Given the description of an element on the screen output the (x, y) to click on. 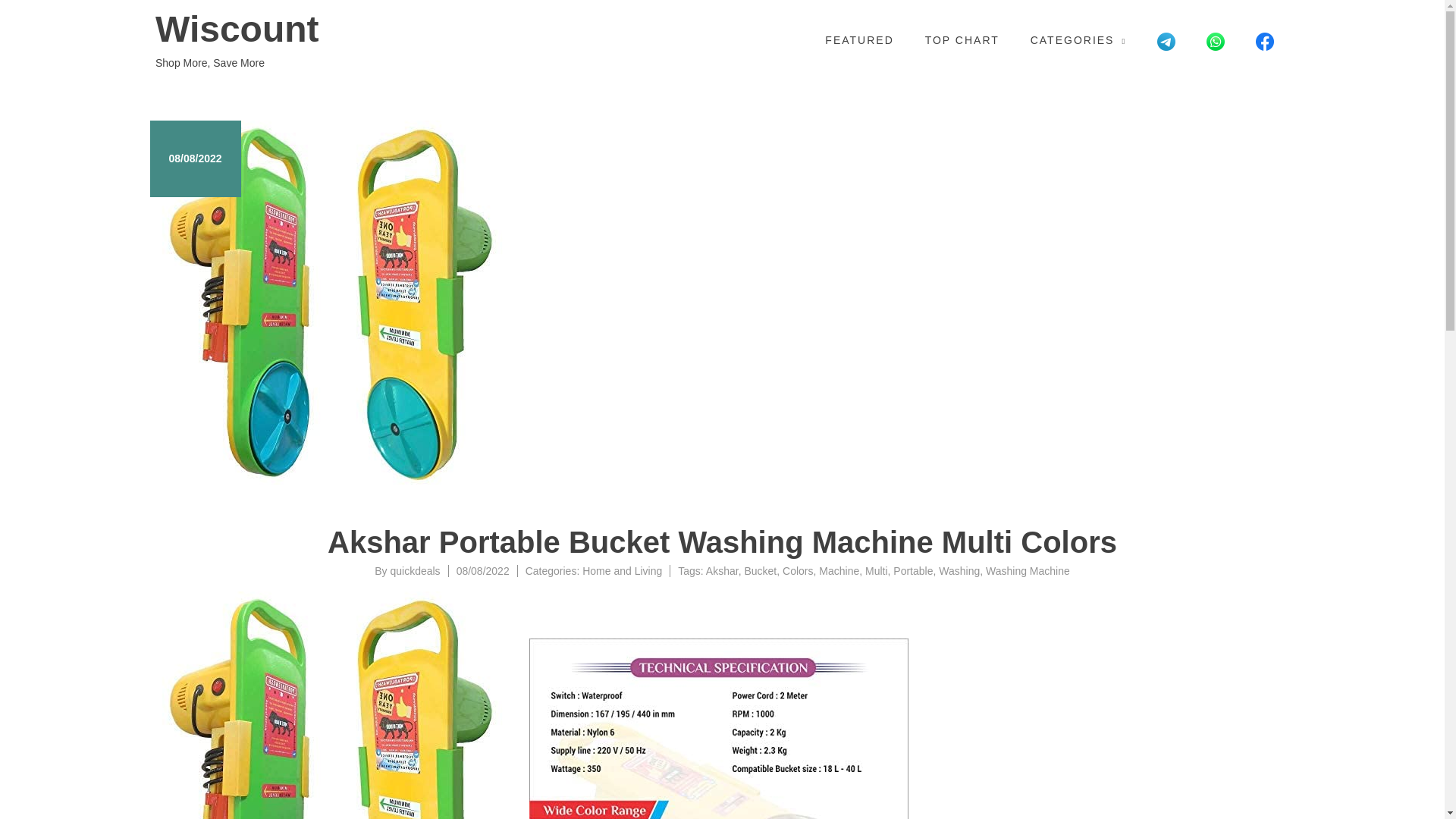
Akshar Portable Bucket Washing Machine Multi Colors (339, 705)
Home and Living (622, 571)
TOP CHART (961, 40)
Wiscount (304, 29)
CATEGORIES (1078, 40)
Akshar (722, 571)
quickdeals (414, 571)
FEATURED (859, 40)
Bucket (760, 571)
